Given the description of an element on the screen output the (x, y) to click on. 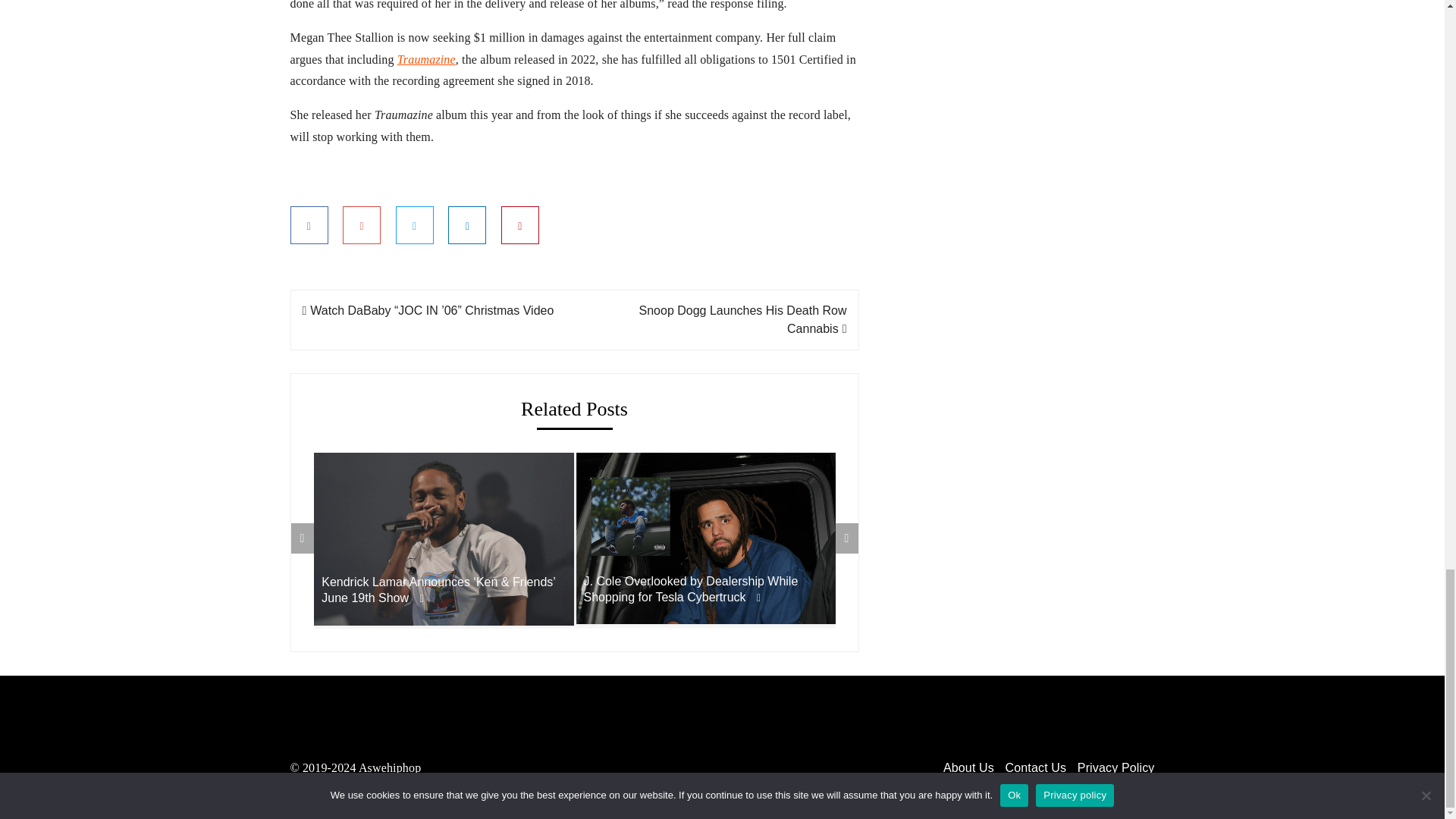
Snoop Dogg Launches His Death Row Cannabis (743, 318)
Traumazine (426, 59)
